Given the description of an element on the screen output the (x, y) to click on. 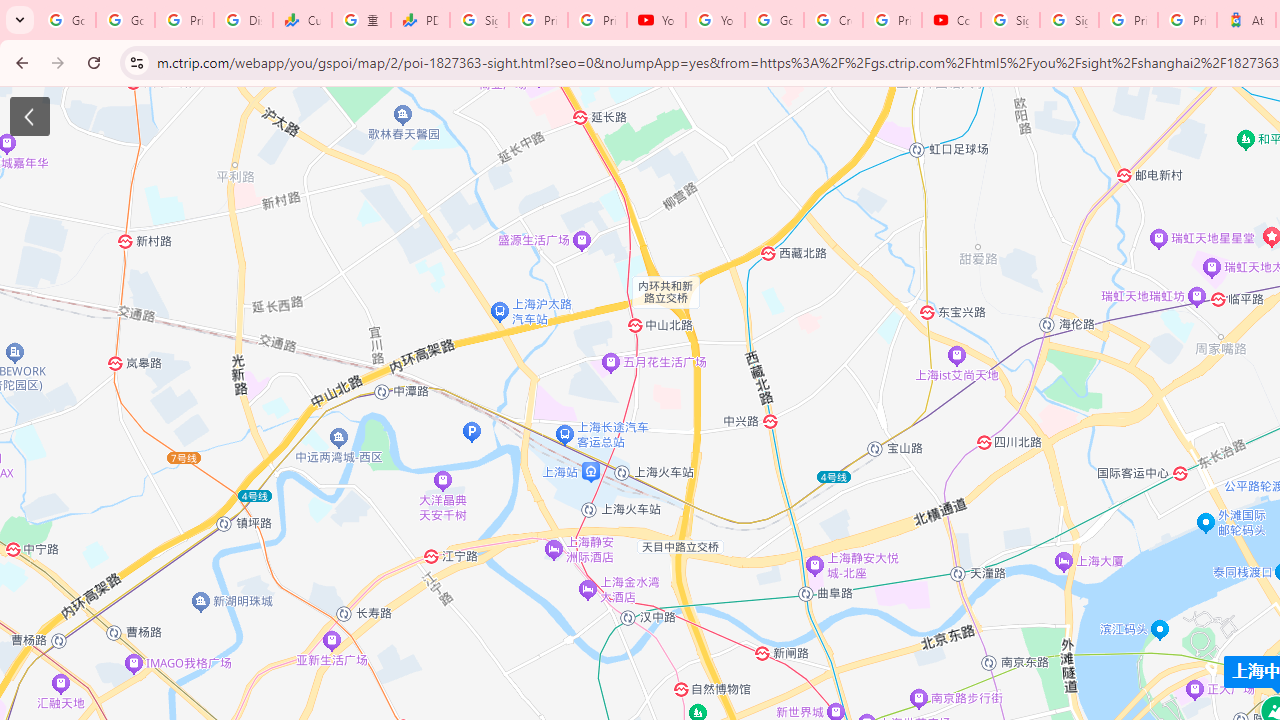
YouTube (656, 20)
Sign in - Google Accounts (479, 20)
Google Workspace Admin Community (66, 20)
Google Account Help (774, 20)
Currencies - Google Finance (301, 20)
PDD Holdings Inc - ADR (PDD) Price & News - Google Finance (420, 20)
